Given the description of an element on the screen output the (x, y) to click on. 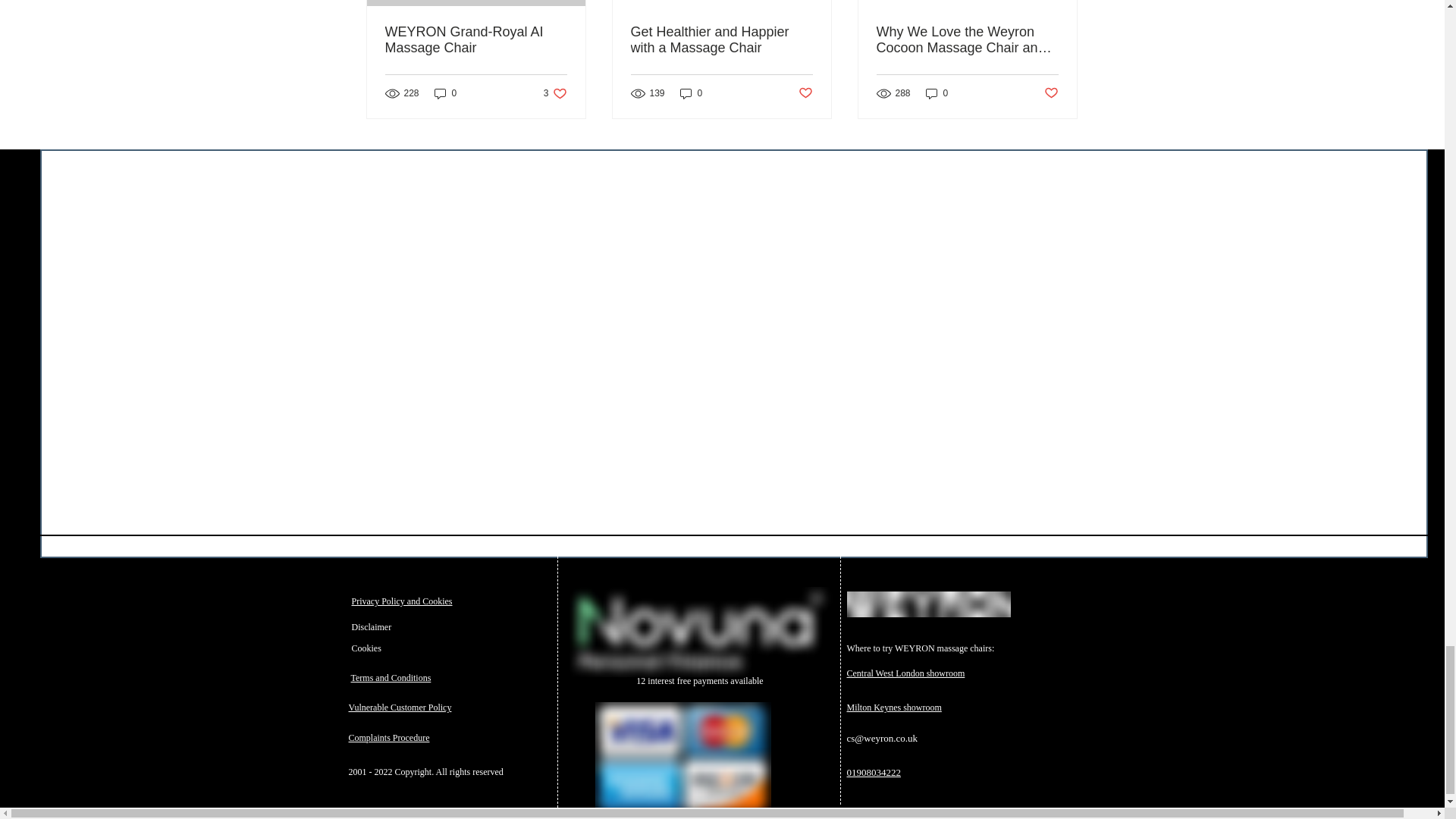
WEYRON Grand-Royal AI Massage Chair (476, 40)
Get Healthier and Happier with a Massage Chair (721, 40)
0 (691, 93)
Post not marked as liked (804, 93)
0 (555, 93)
